Given the description of an element on the screen output the (x, y) to click on. 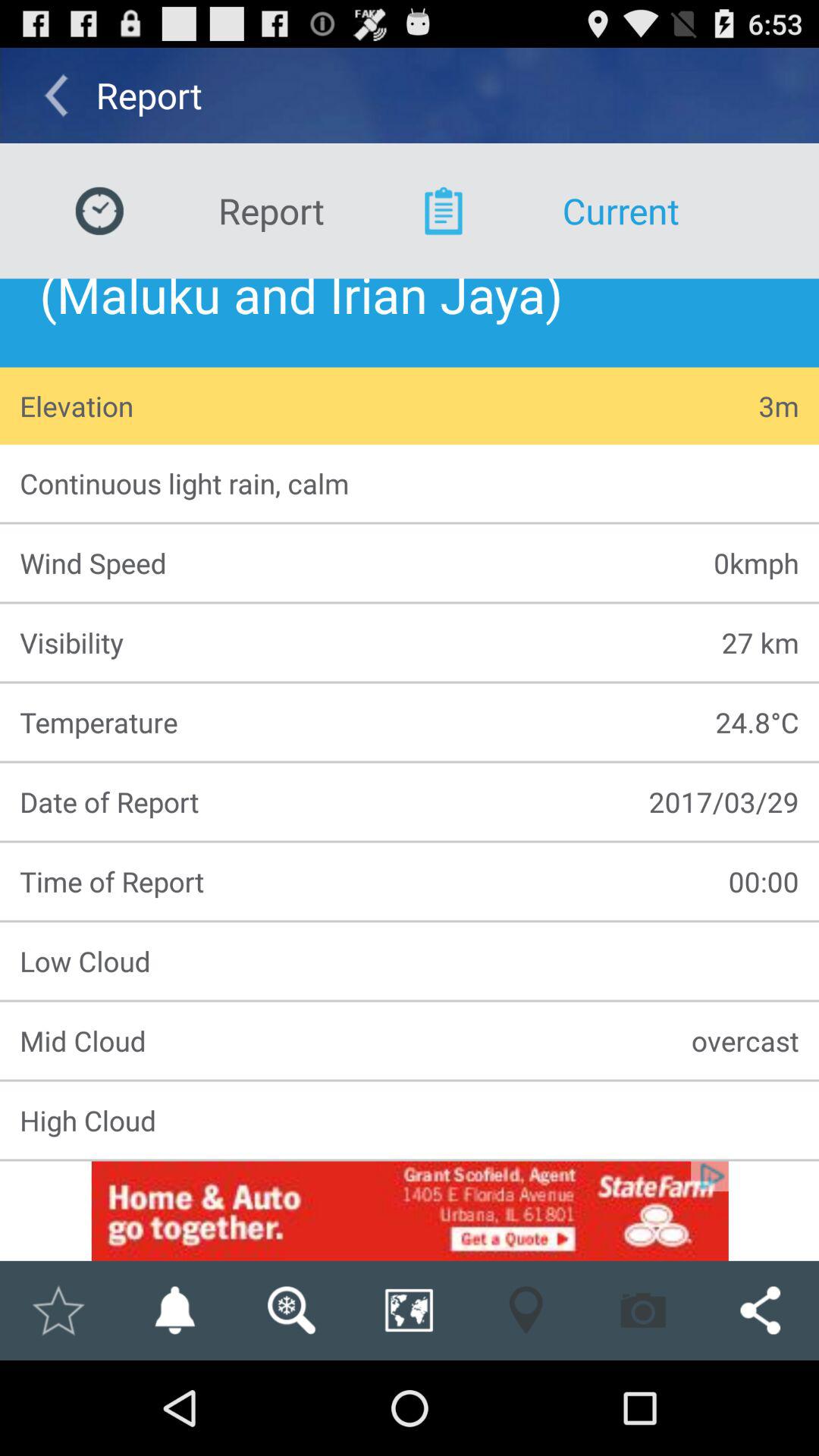
zoom button (408, 1310)
